Given the description of an element on the screen output the (x, y) to click on. 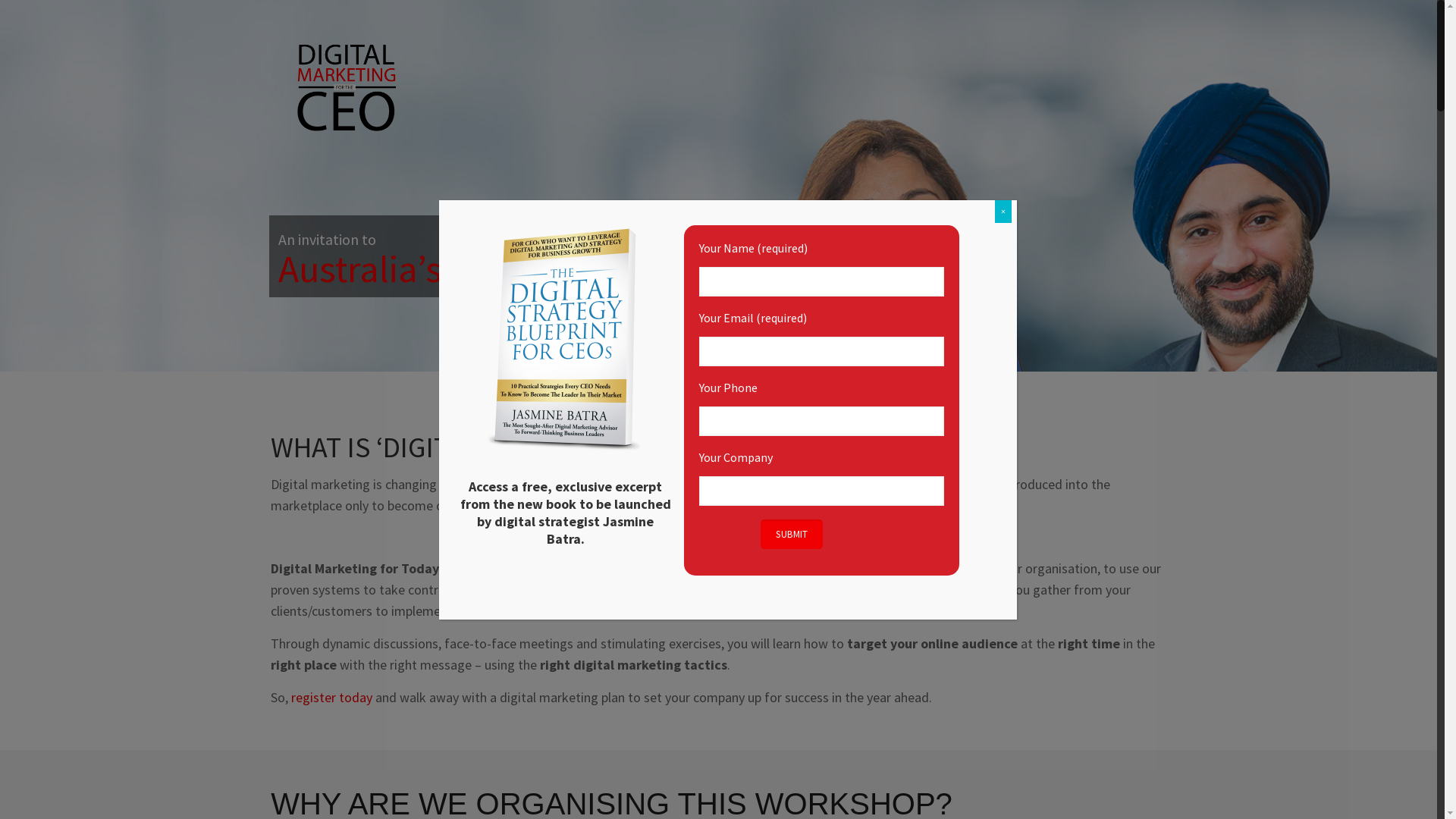
SUBMIT Element type: text (791, 533)
register today Element type: text (333, 697)
